Given the description of an element on the screen output the (x, y) to click on. 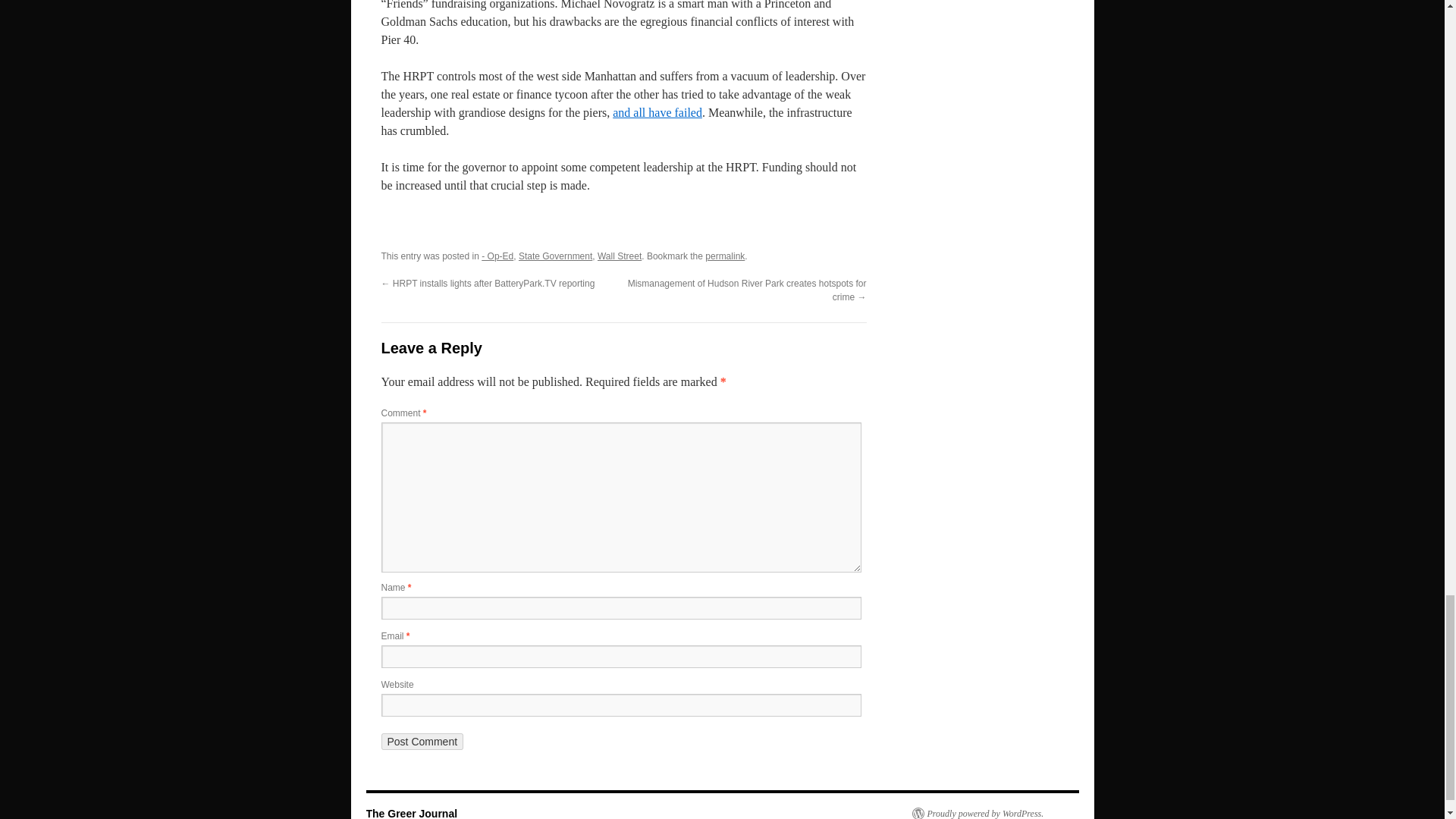
- Op-Ed (497, 255)
Post Comment (421, 741)
Wall Street (619, 255)
permalink (724, 255)
State Government (555, 255)
and all have failed (656, 112)
